Given the description of an element on the screen output the (x, y) to click on. 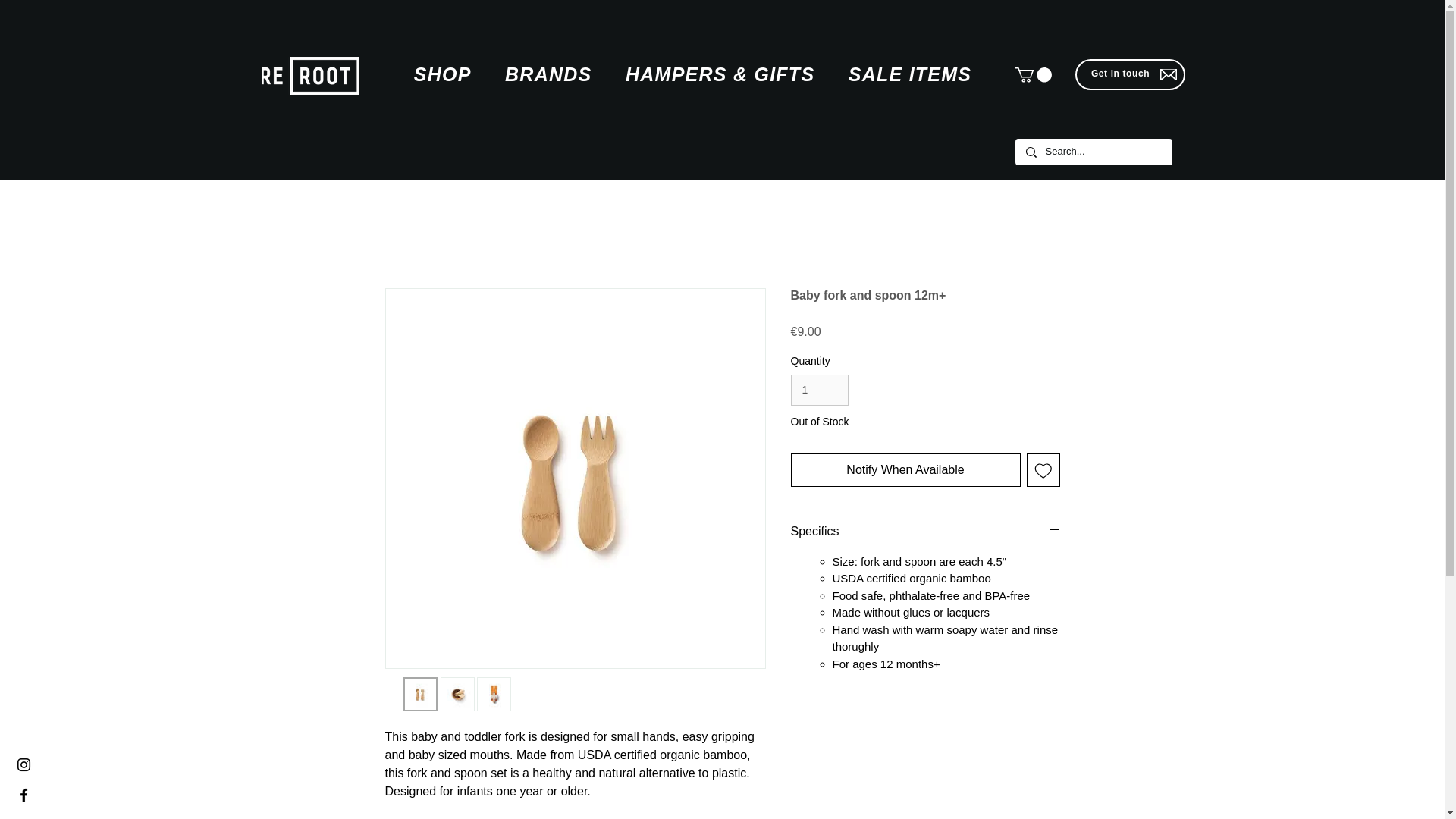
SALE ITEMS (909, 74)
1 (818, 389)
BRANDS (548, 74)
Get in touch (1120, 72)
SHOP (442, 74)
Notify When Available (905, 469)
